Given the description of an element on the screen output the (x, y) to click on. 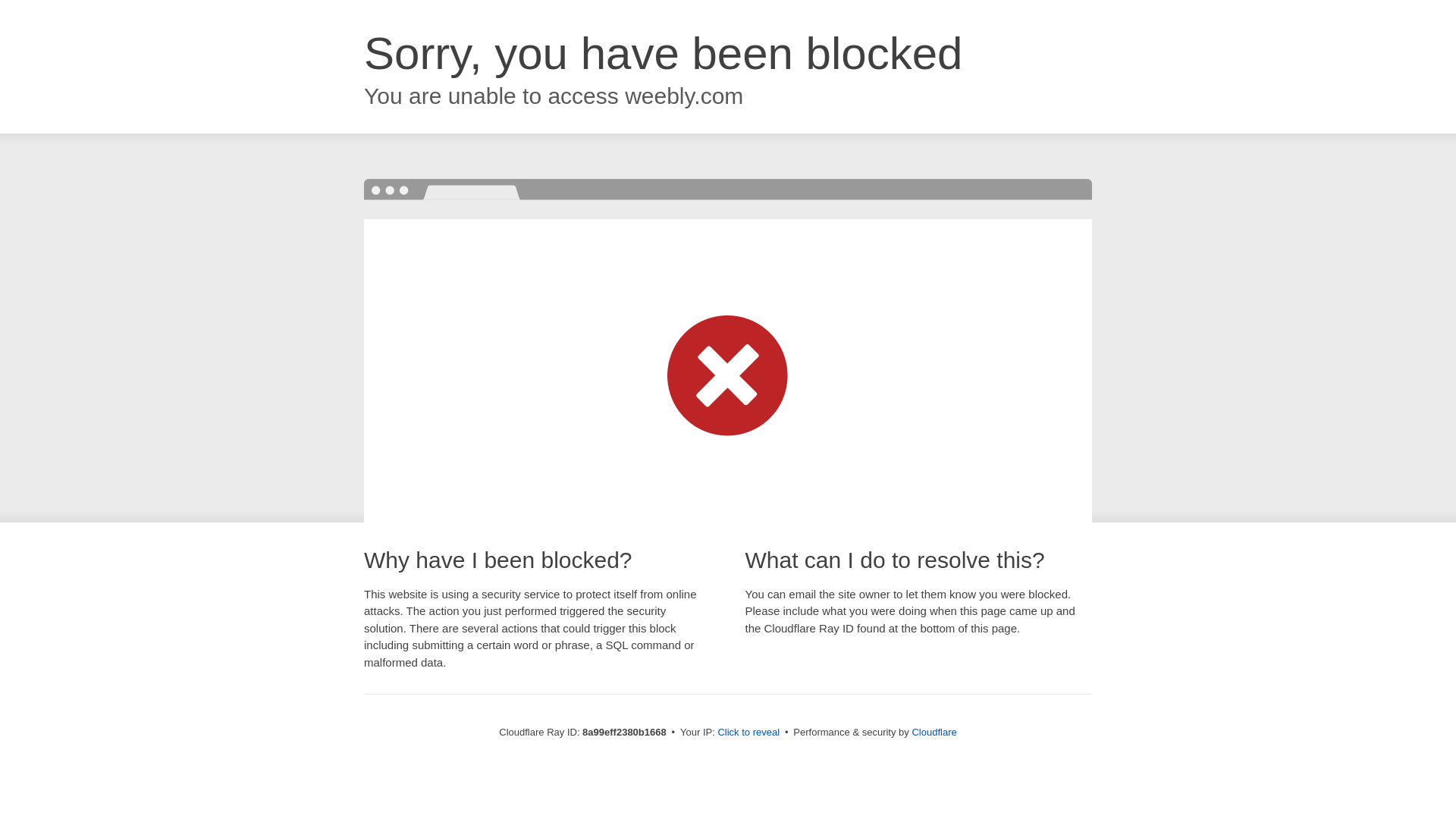
Click to reveal (747, 732)
Cloudflare (933, 731)
